Given the description of an element on the screen output the (x, y) to click on. 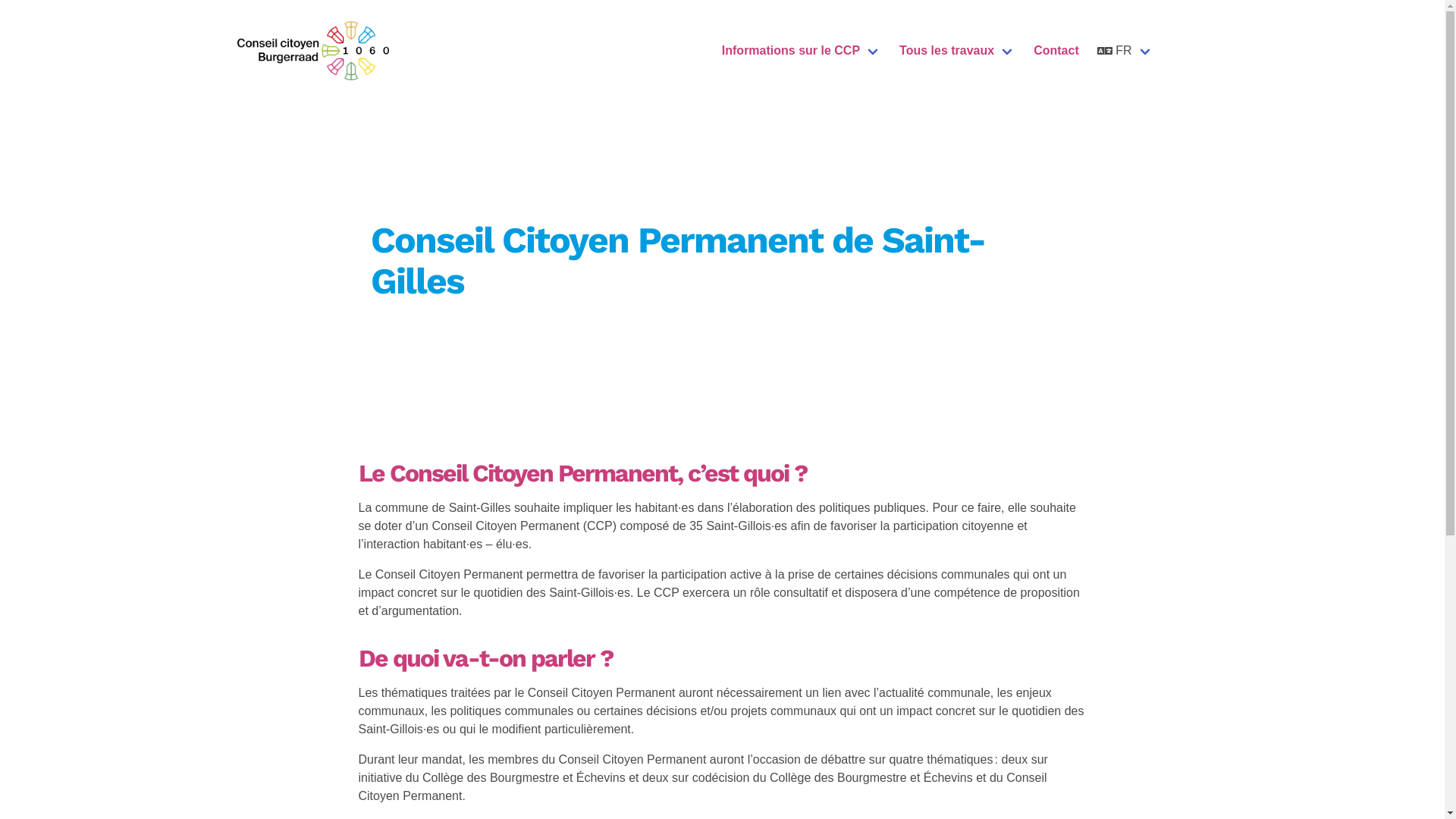
Informations sur le CCP Element type: text (801, 50)
Tous les travaux Element type: text (957, 50)
Contact Element type: text (1056, 50)
